Given the description of an element on the screen output the (x, y) to click on. 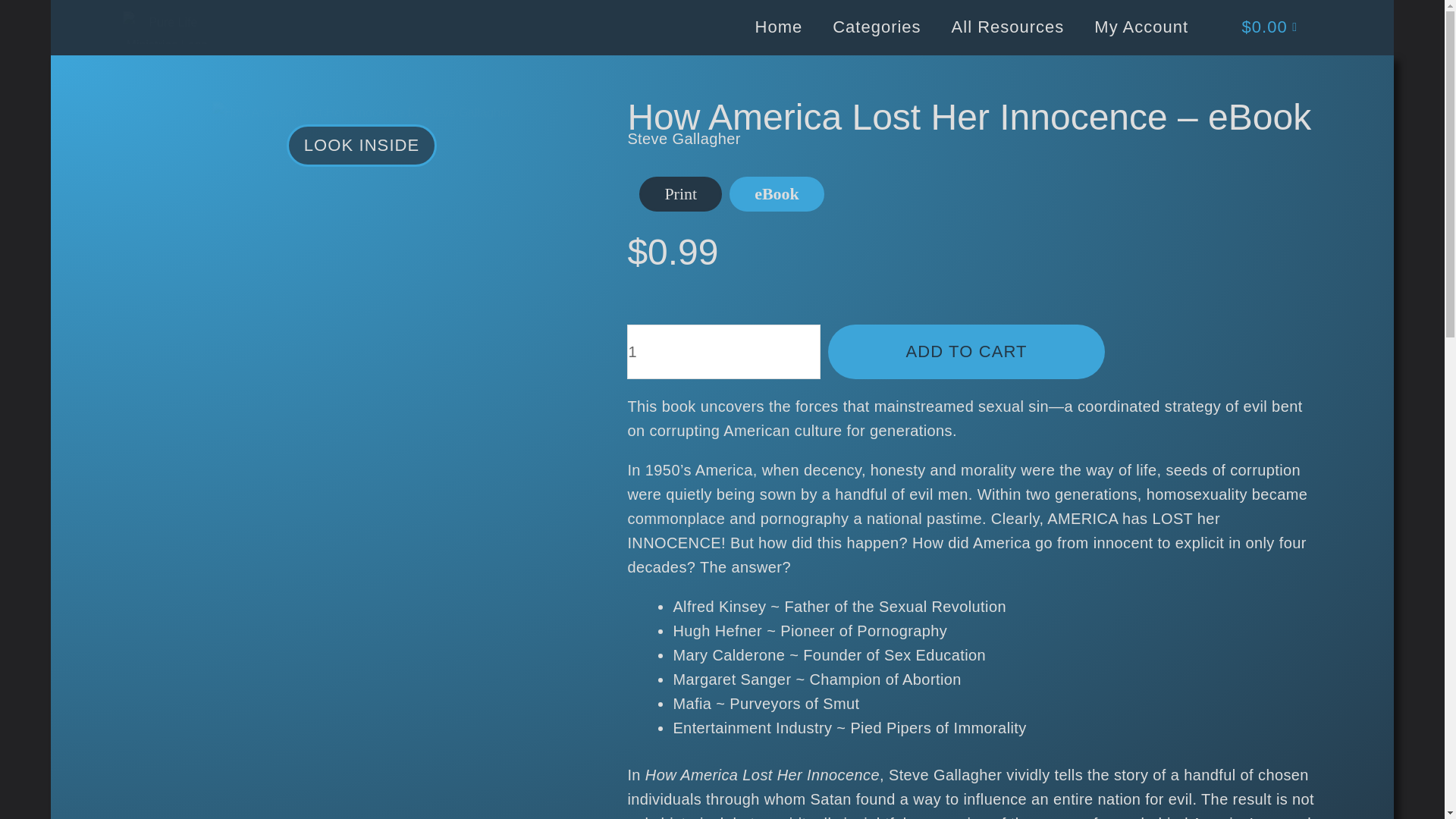
Print (680, 194)
ADD TO CART (965, 352)
My Account (1140, 26)
LOOK INSIDE (362, 145)
How America Lost Her Innocence (680, 194)
Categories (876, 26)
All Resources (1007, 26)
1 (724, 352)
Home (779, 26)
